Given the description of an element on the screen output the (x, y) to click on. 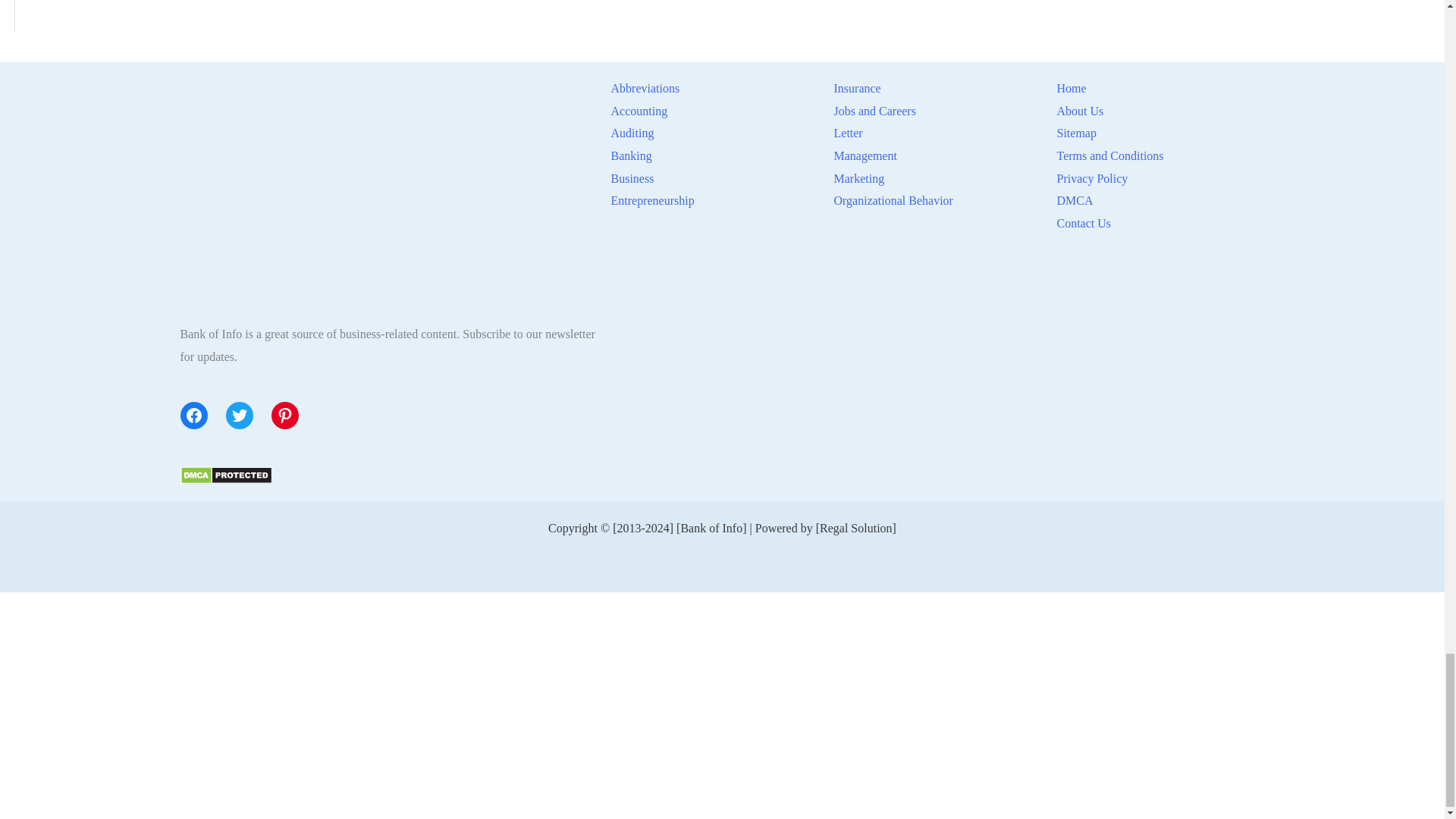
DMCA.com Protection Status (226, 473)
